Given the description of an element on the screen output the (x, y) to click on. 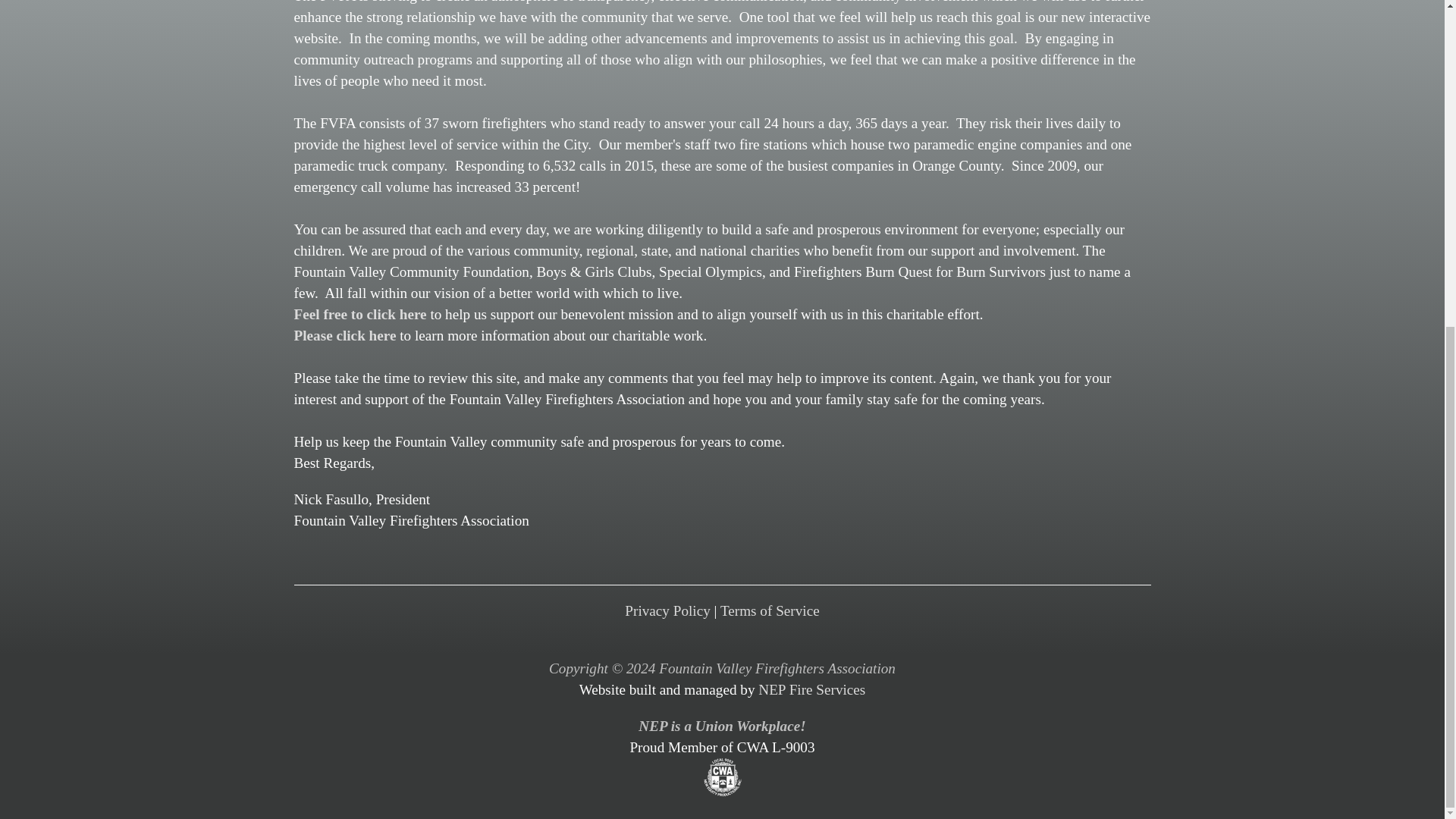
Please click here (345, 335)
Privacy Policy (667, 610)
Feel free to click here (360, 314)
NEP Fire Services (811, 689)
Terms of Service (769, 610)
